Given the description of an element on the screen output the (x, y) to click on. 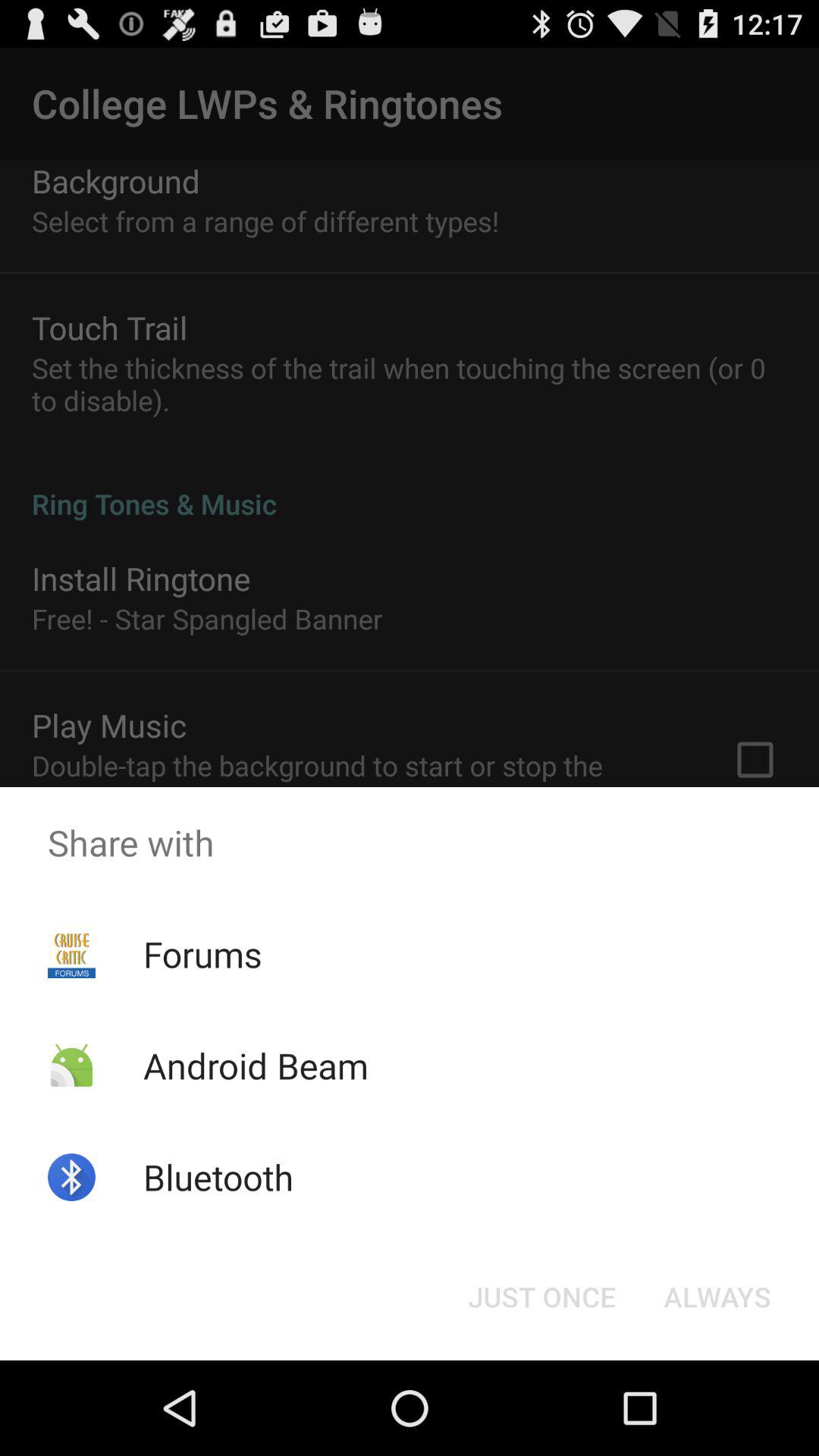
turn off item below android beam item (218, 1176)
